Given the description of an element on the screen output the (x, y) to click on. 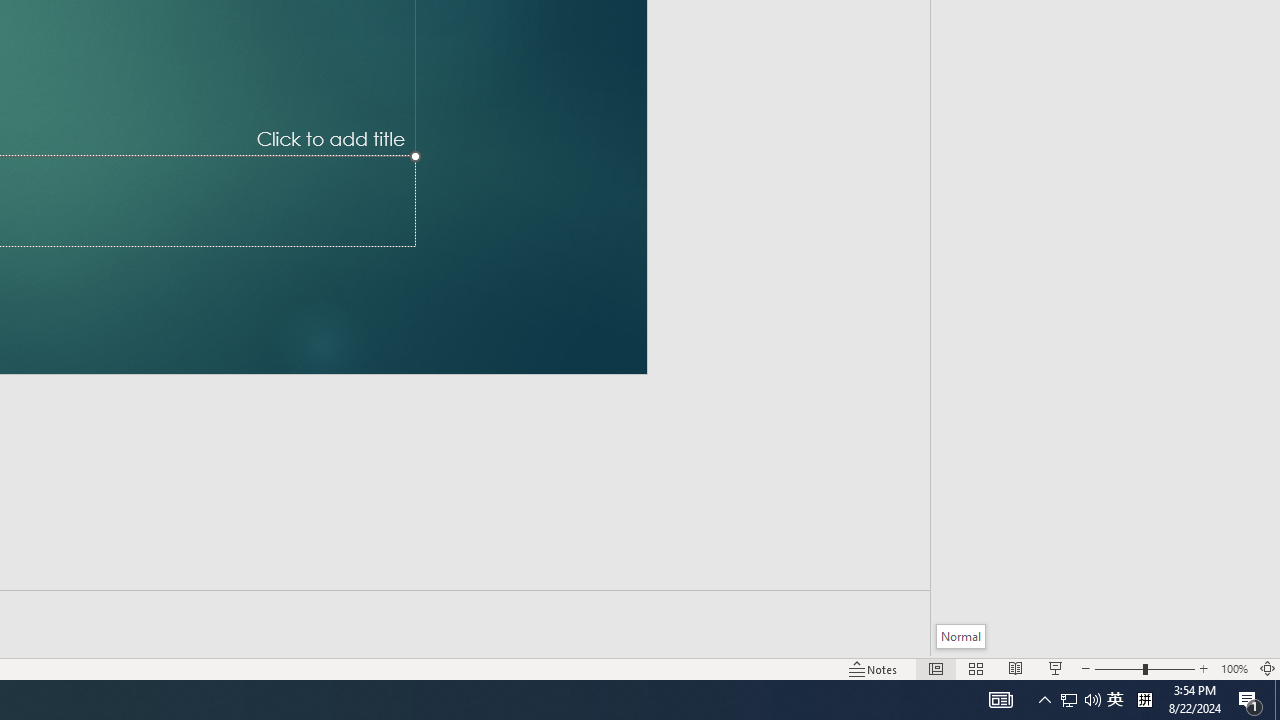
Zoom 100% (1234, 668)
